Given the description of an element on the screen output the (x, y) to click on. 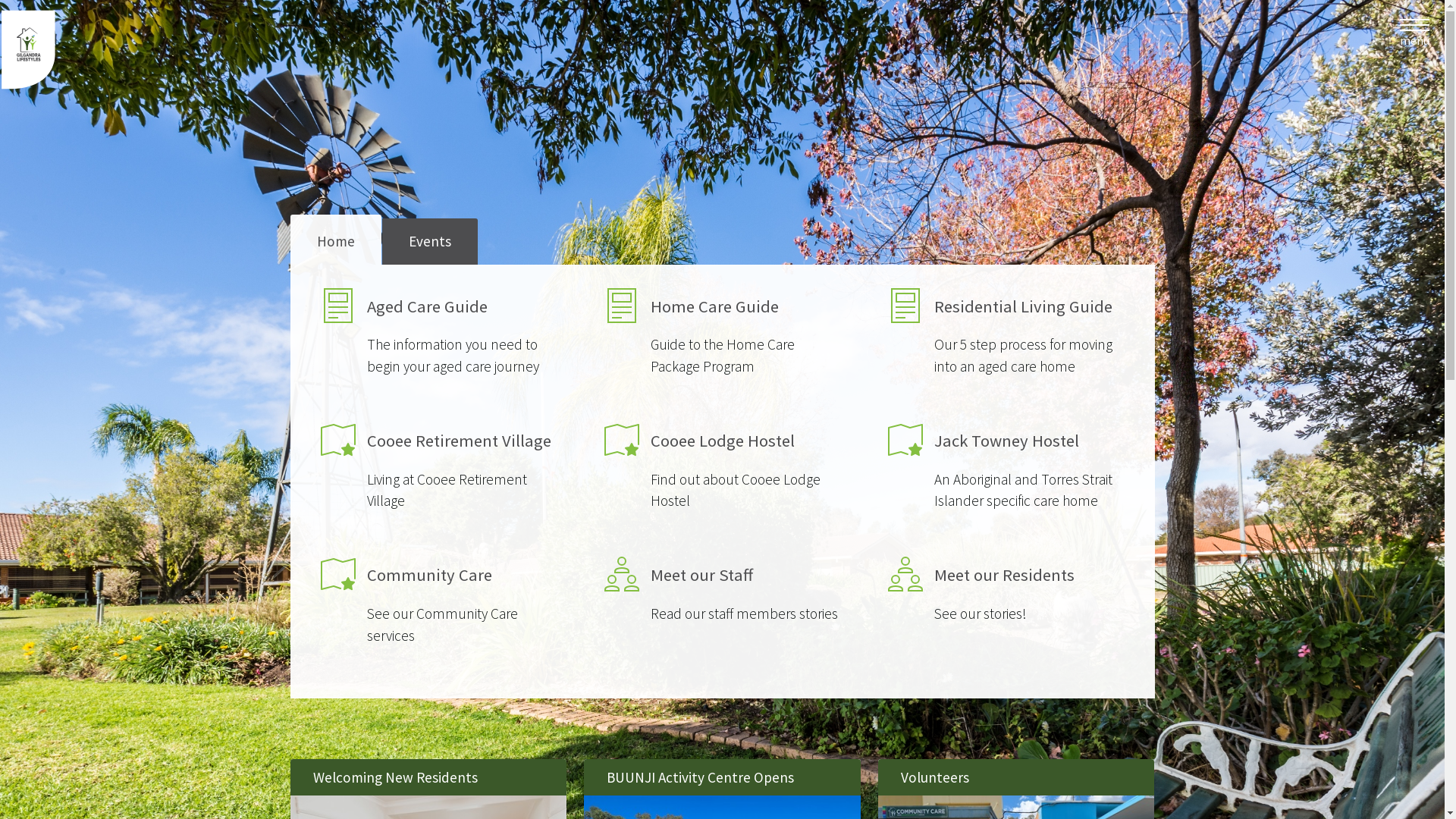
Community Care
See our Community Care services Element type: text (438, 605)
Meet our Residents
See our stories! Element type: text (1005, 605)
Cooee Retirement Village
Living at Cooee Retirement Village Element type: text (438, 471)
Meet our Staff
Read our staff members stories Element type: text (722, 605)
Home - Gilgandra Lifestyles - Logo Element type: text (29, 55)
Home Care Guide
Guide to the Home Care Package Program Element type: text (722, 337)
Events Element type: text (429, 241)
Cooee Lodge Hostel
Find out about Cooee Lodge Hostel Element type: text (722, 471)
Home Element type: text (334, 239)
open
menu
below search button Element type: text (1414, 26)
